Given the description of an element on the screen output the (x, y) to click on. 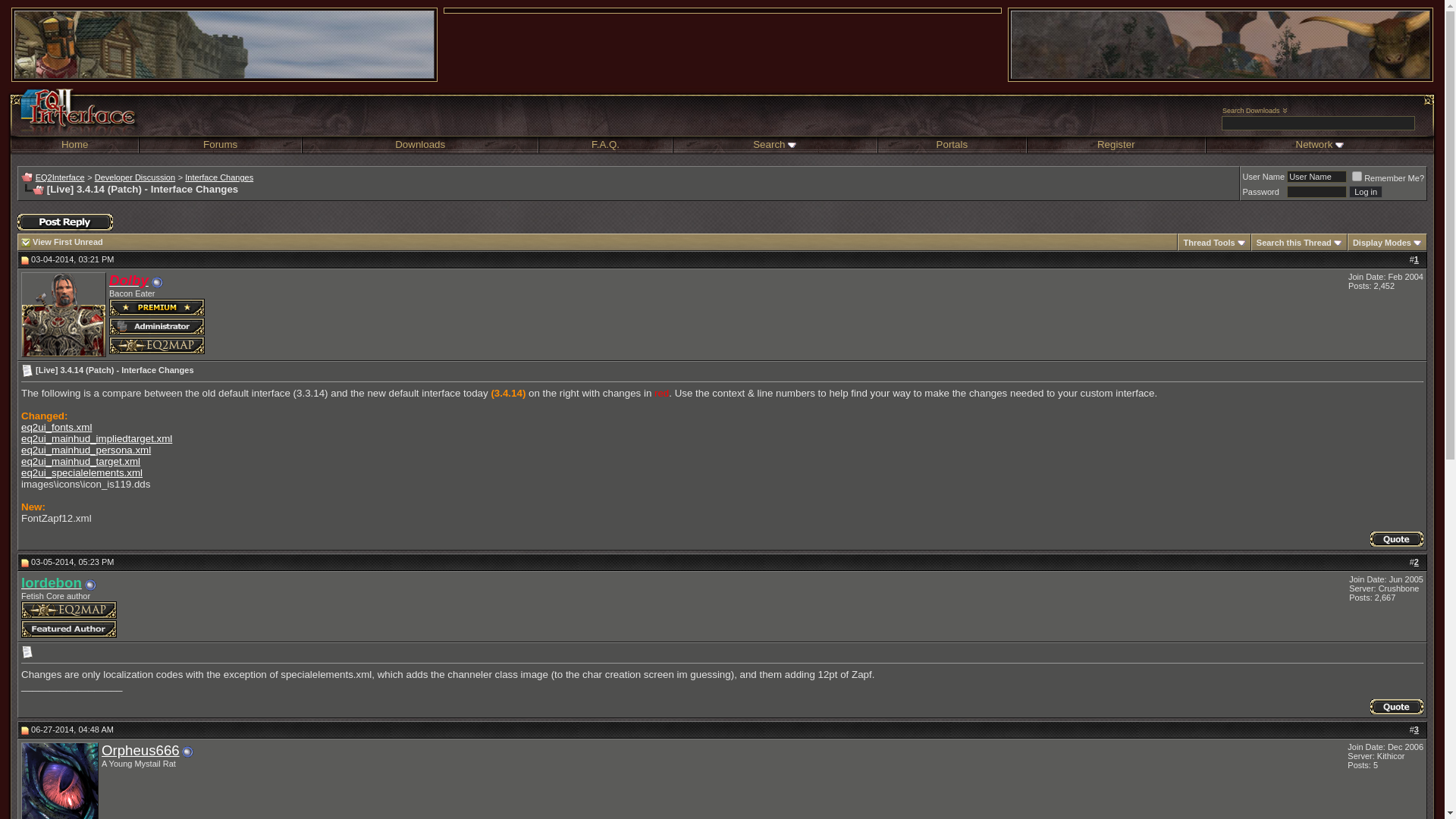
Downloads (419, 143)
Reply (65, 221)
F.A.Q. (605, 143)
Home (74, 143)
Thread Tools (1208, 242)
Log in (1365, 191)
EQ2Interface.com (72, 111)
EQ2Interface (59, 176)
Display Modes (1381, 242)
Portals (952, 143)
Log in (1365, 191)
Go Back (26, 176)
Network (1313, 143)
Reload this Page (32, 189)
